Given the description of an element on the screen output the (x, y) to click on. 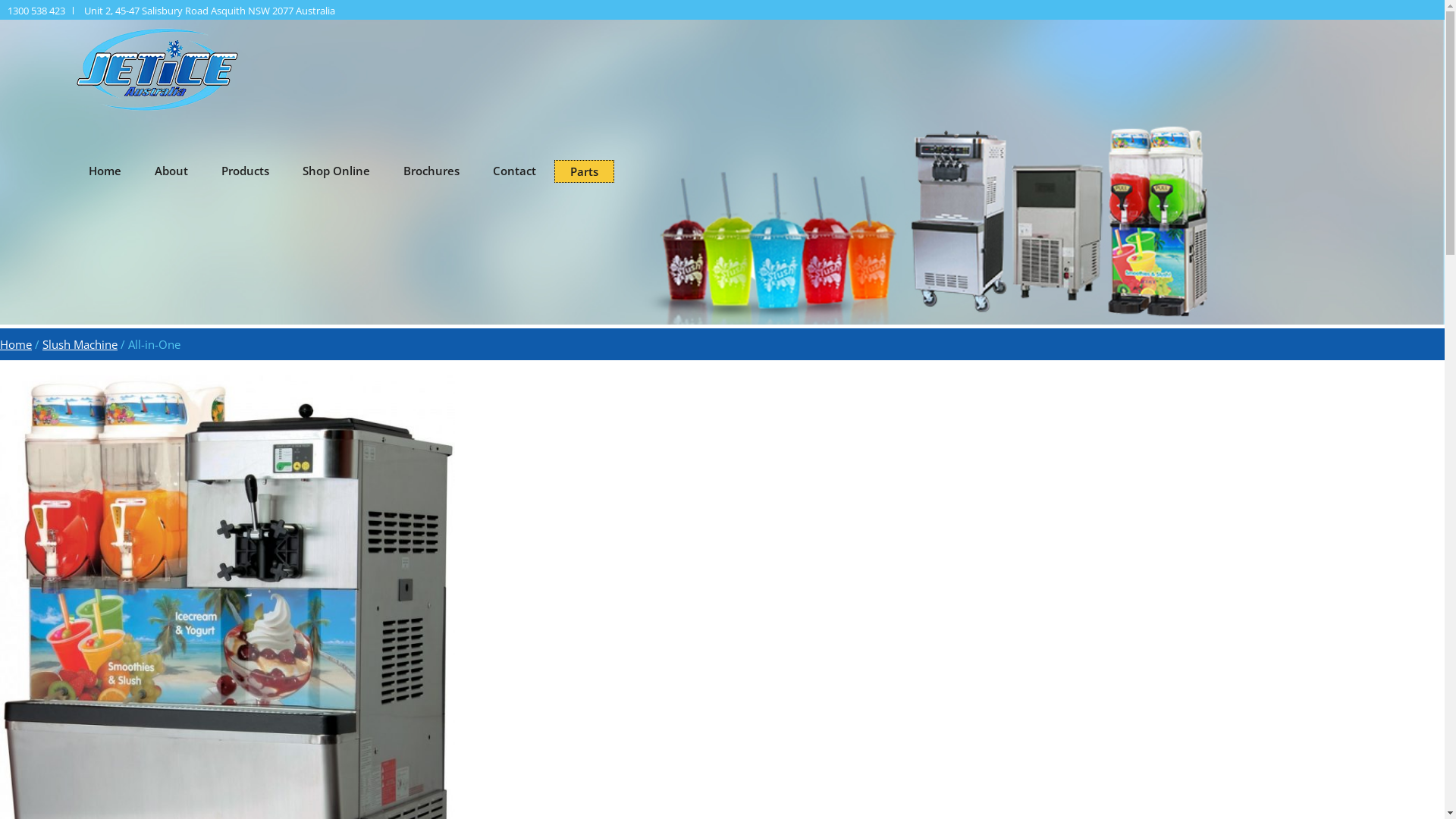
Slush Machine Element type: text (79, 343)
Parts Element type: text (584, 171)
Home Element type: text (104, 170)
Home Element type: text (15, 343)
Brochures Element type: text (431, 170)
Shop Online Element type: text (336, 170)
Contact Element type: text (514, 170)
1300 538 423 Element type: text (36, 10)
About Element type: text (171, 170)
Products Element type: text (245, 170)
